Given the description of an element on the screen output the (x, y) to click on. 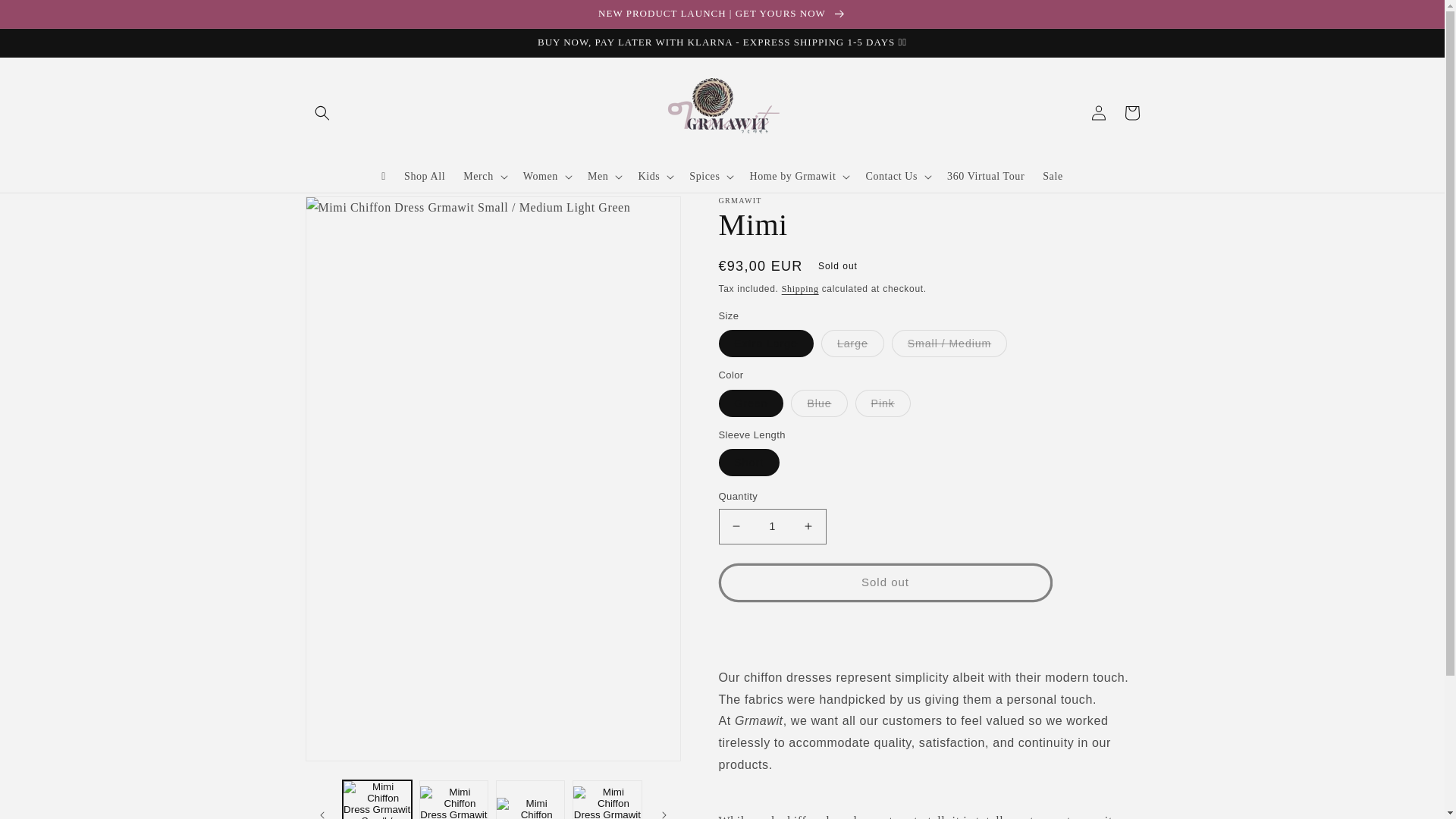
Skip to content (47, 18)
1 (773, 526)
